Given the description of an element on the screen output the (x, y) to click on. 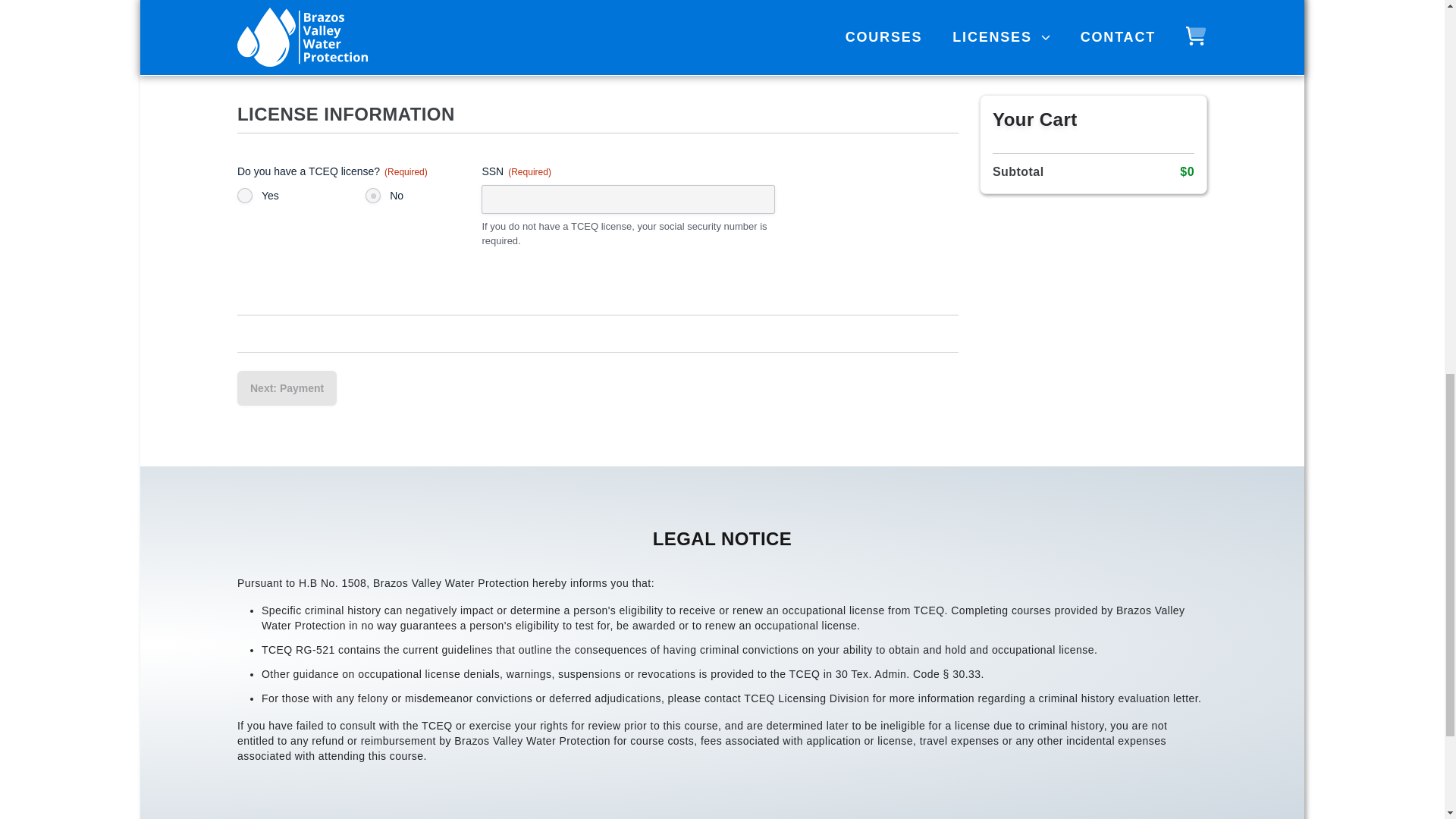
No (372, 195)
Next: Payment (286, 388)
Yes (244, 195)
Next: Payment (286, 388)
